Given the description of an element on the screen output the (x, y) to click on. 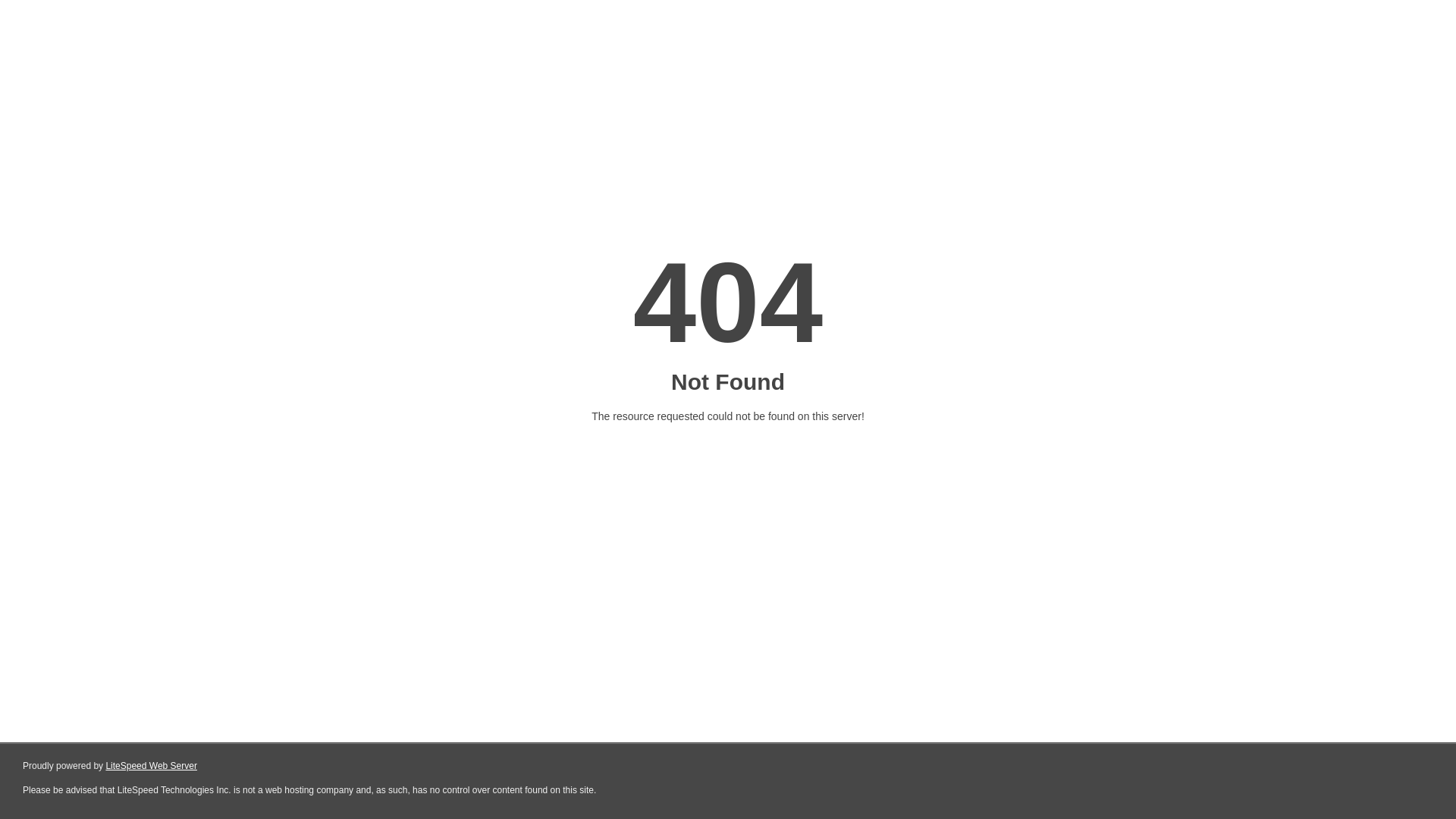
LiteSpeed Web Server Element type: text (151, 765)
